Given the description of an element on the screen output the (x, y) to click on. 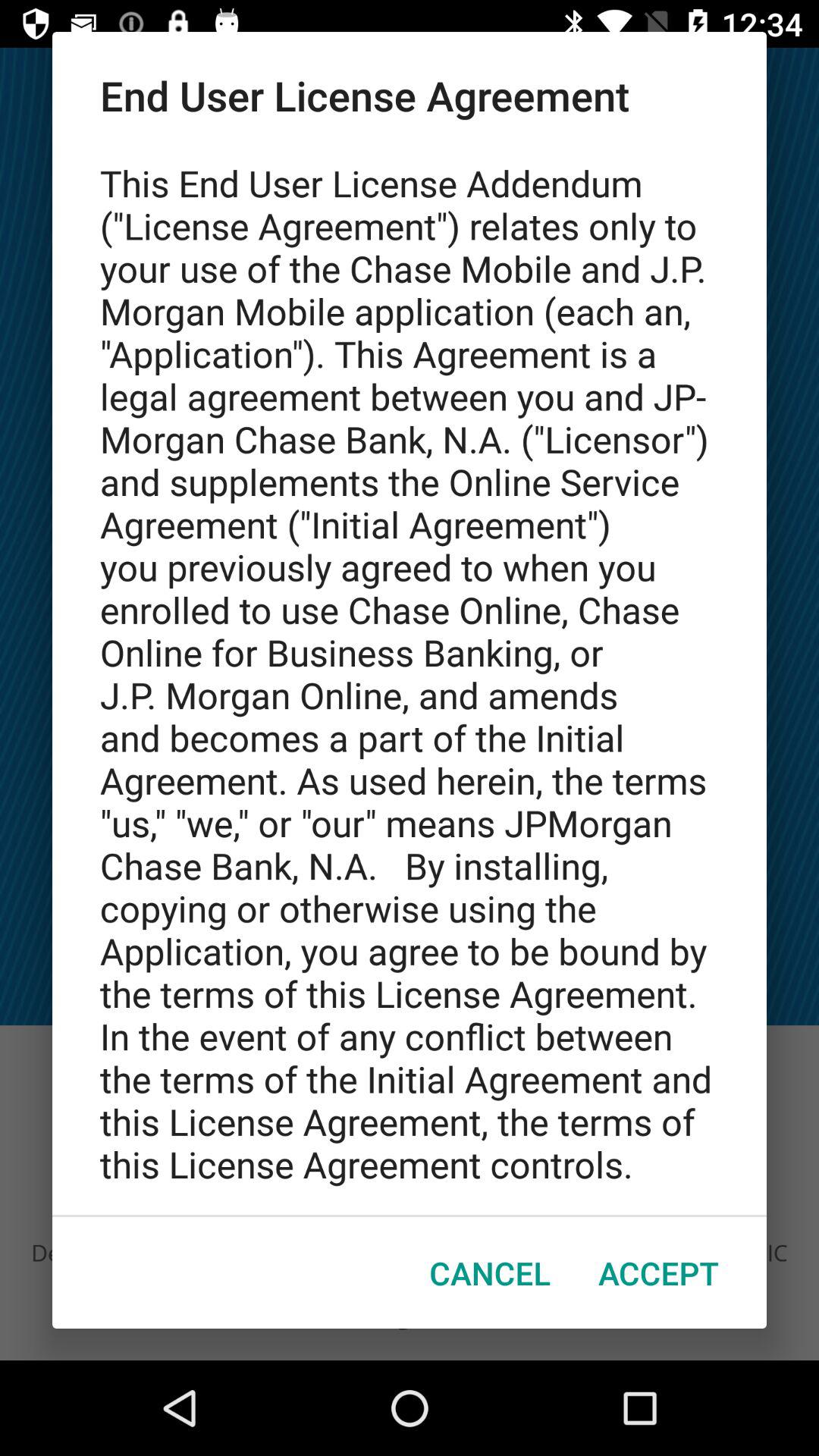
open the item to the left of accept (489, 1272)
